Given the description of an element on the screen output the (x, y) to click on. 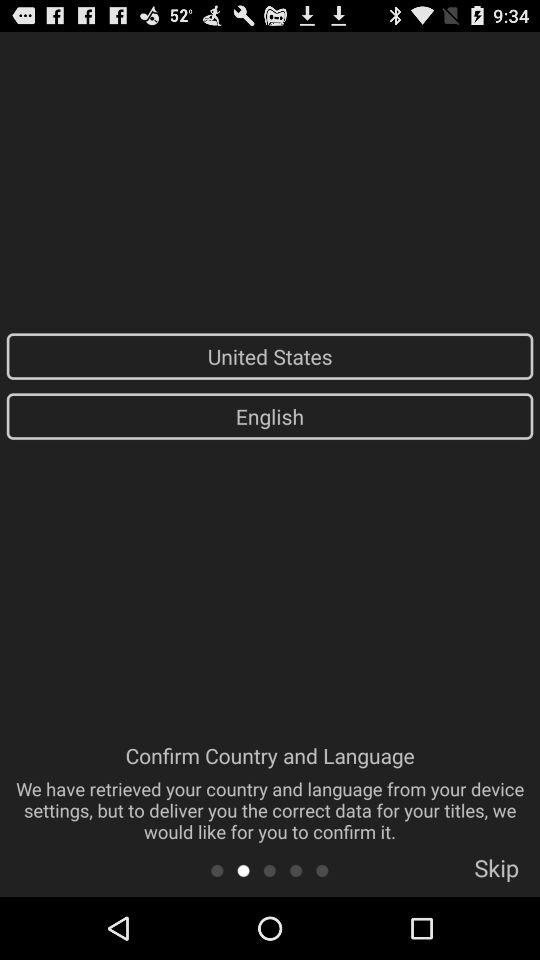
go to first page (216, 870)
